Given the description of an element on the screen output the (x, y) to click on. 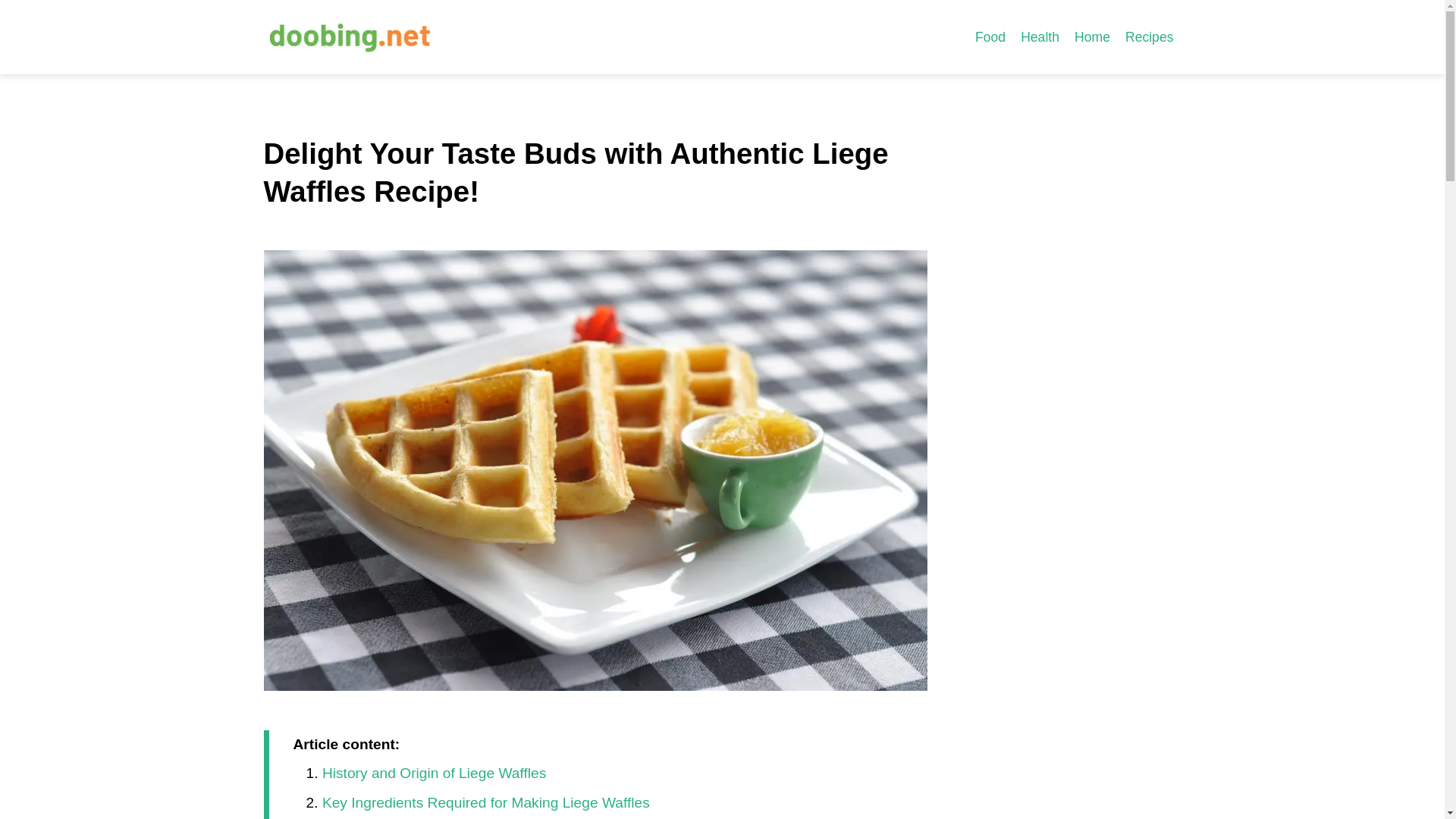
Key Ingredients Required for Making Liege Waffles (485, 802)
Health (1040, 36)
History and Origin of Liege Waffles (433, 772)
Food (990, 36)
Recipes (1149, 36)
Home (1092, 36)
